Given the description of an element on the screen output the (x, y) to click on. 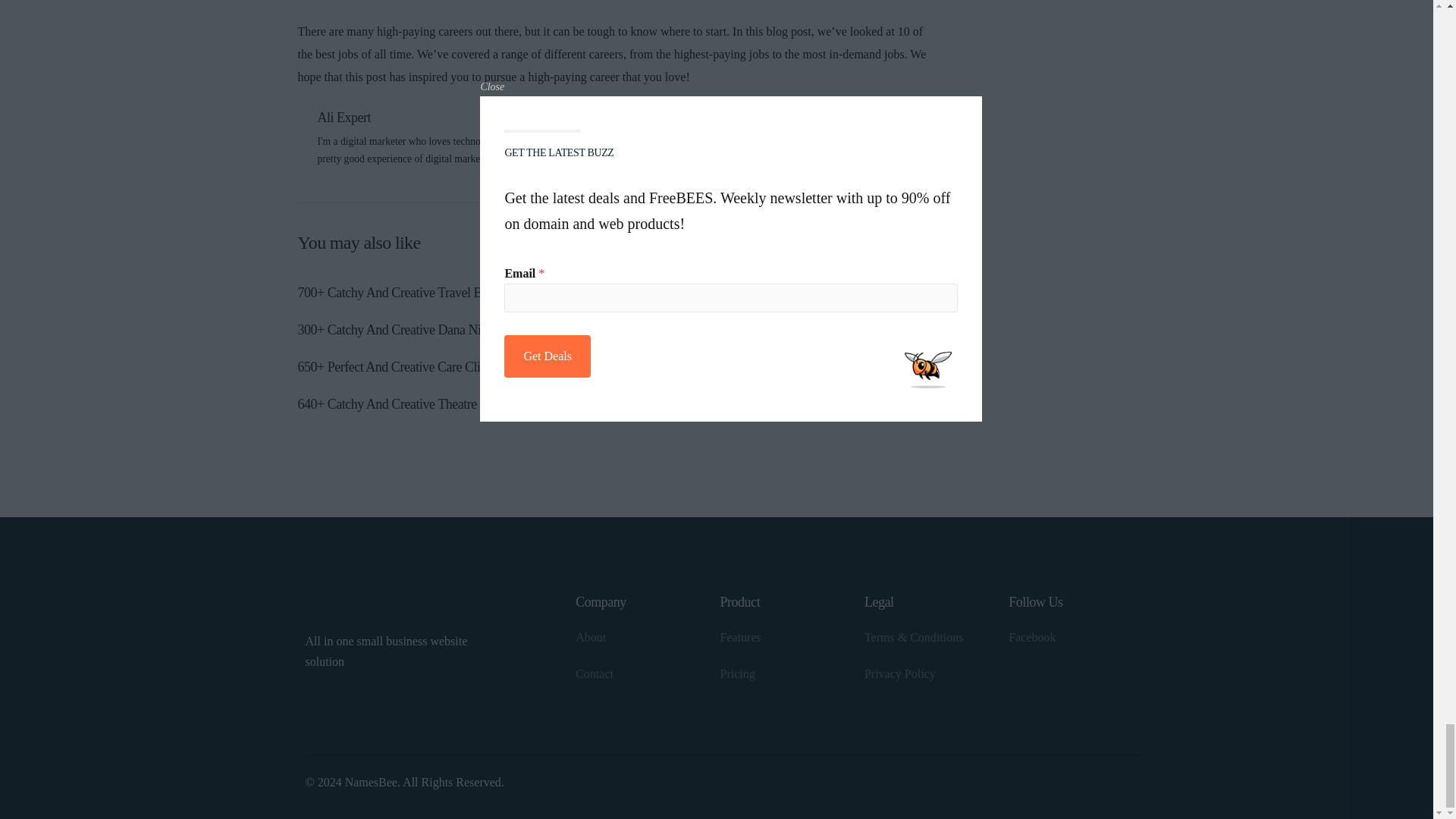
Posts by Ali Expert (344, 117)
